Given the description of an element on the screen output the (x, y) to click on. 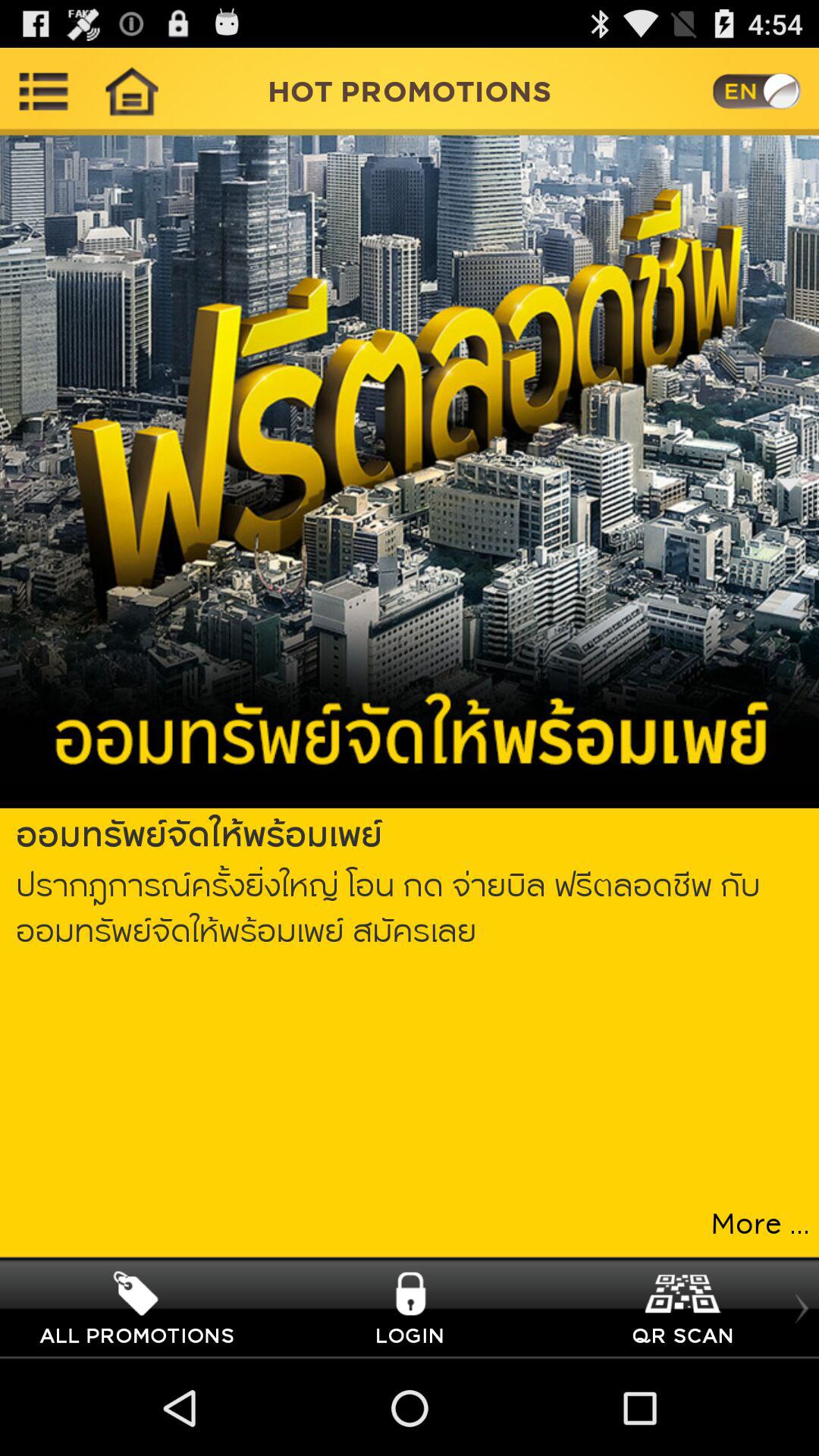
go home (131, 91)
